Given the description of an element on the screen output the (x, y) to click on. 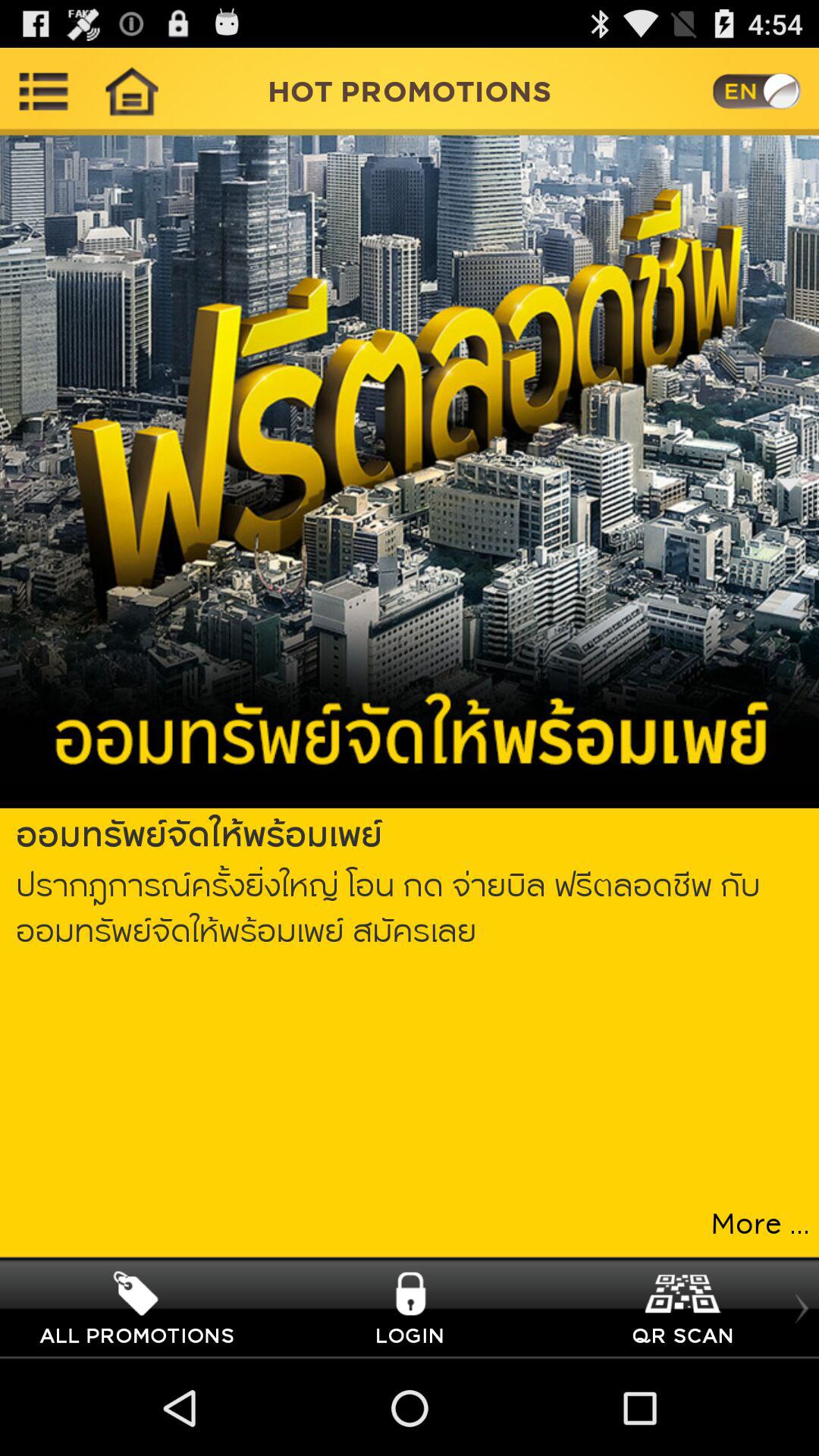
go home (131, 91)
